Given the description of an element on the screen output the (x, y) to click on. 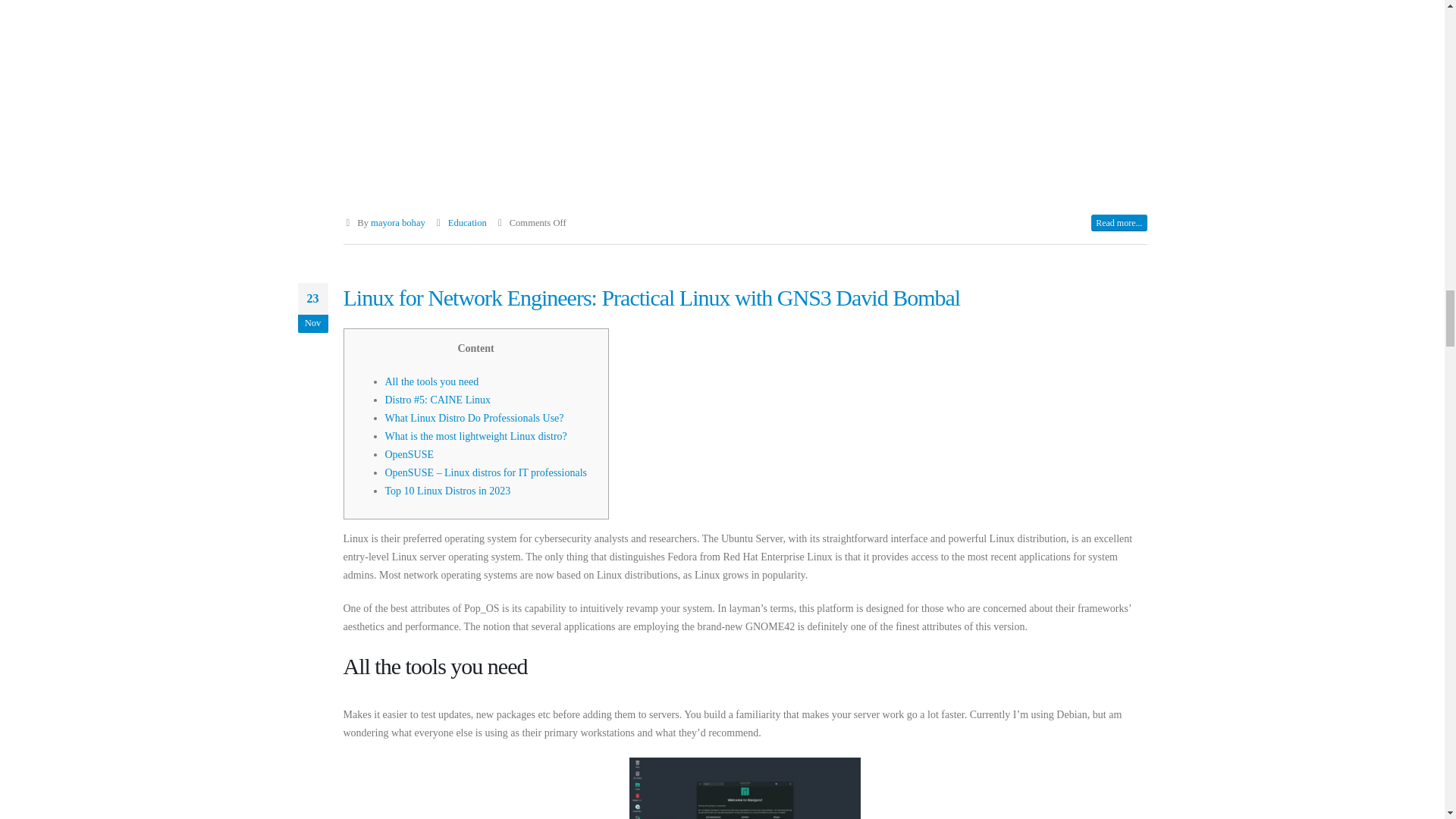
Posts by mayora bohay (398, 222)
